Given the description of an element on the screen output the (x, y) to click on. 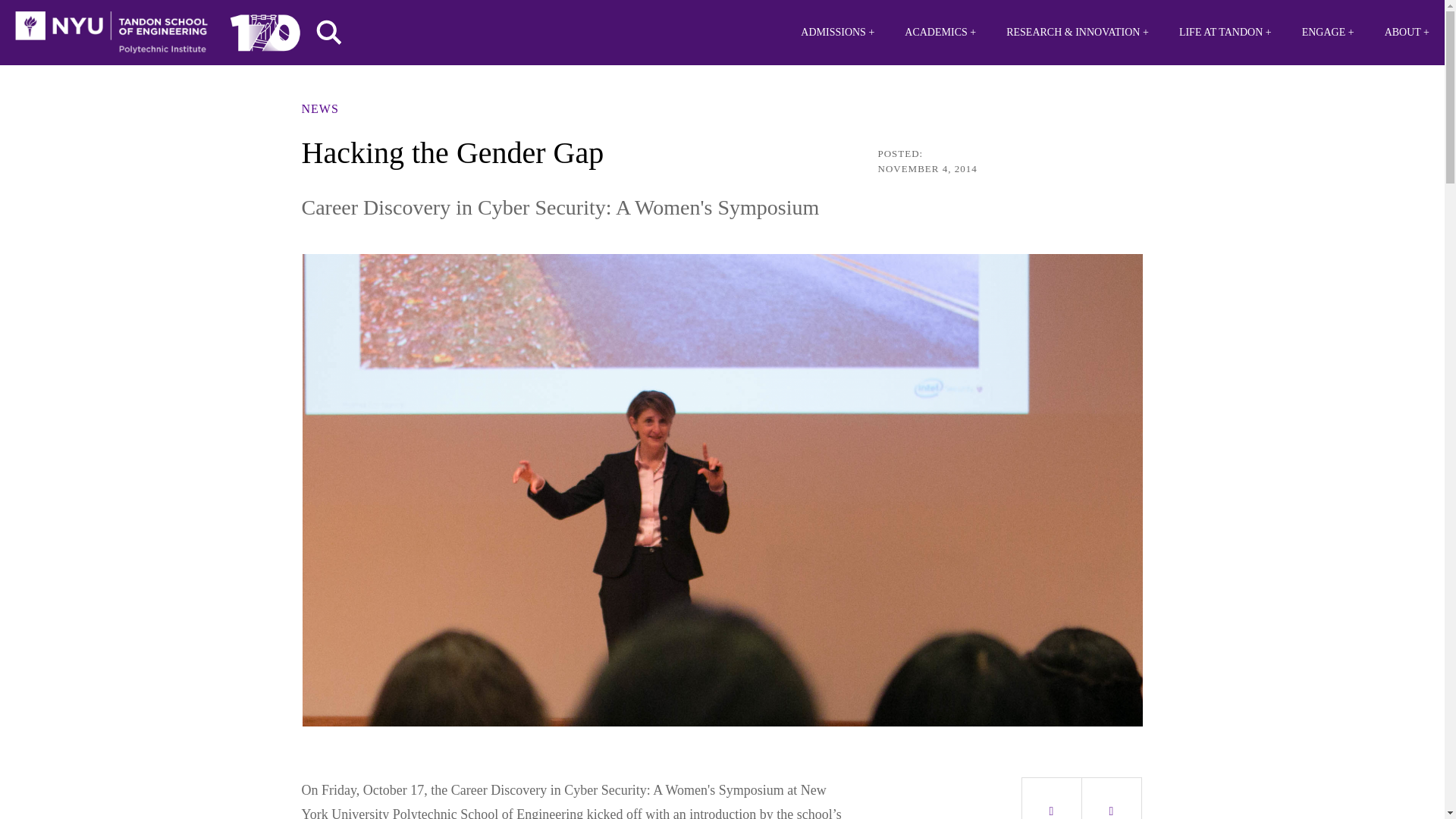
NYU Tandon Logo (111, 32)
NYU Tandon Anniversary (264, 29)
NYU Tandon School of Engineering - Polytechnic Institute (111, 32)
